Given the description of an element on the screen output the (x, y) to click on. 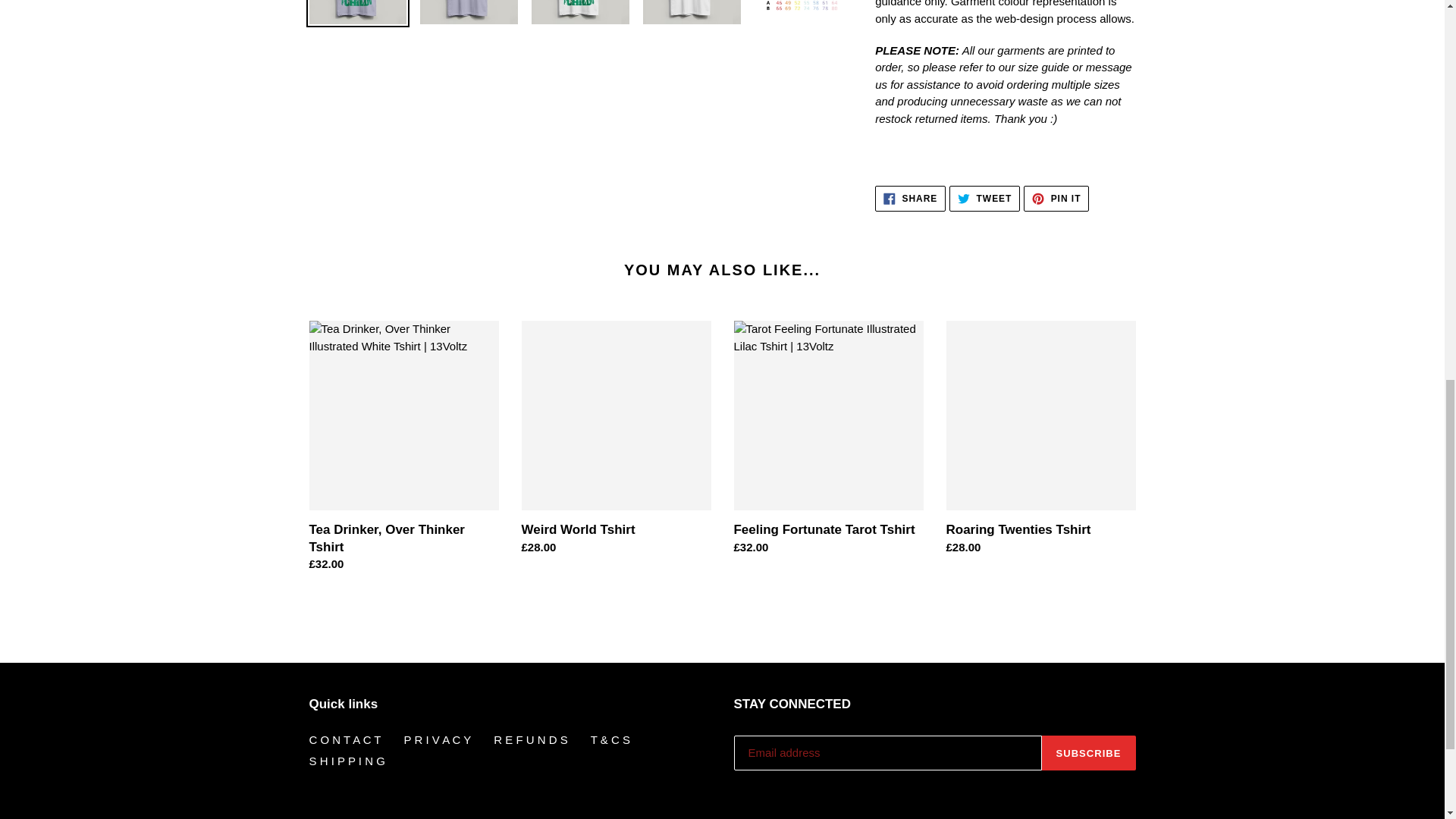
S H I P P I N G (984, 198)
C O N T A C T (909, 198)
P R I V A C Y (346, 760)
R E F U N D S (344, 739)
